Given the description of an element on the screen output the (x, y) to click on. 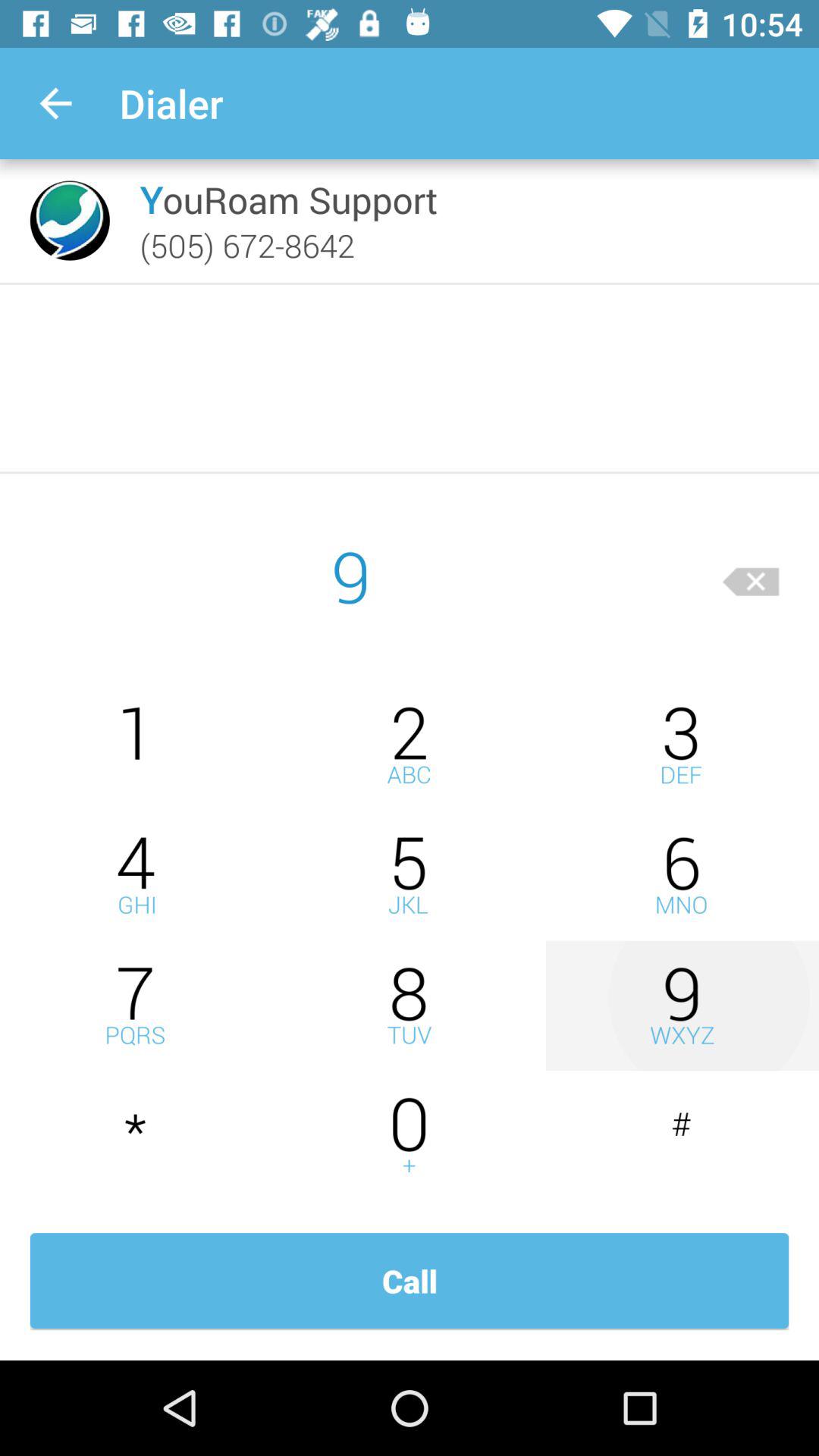
select six (682, 875)
